Given the description of an element on the screen output the (x, y) to click on. 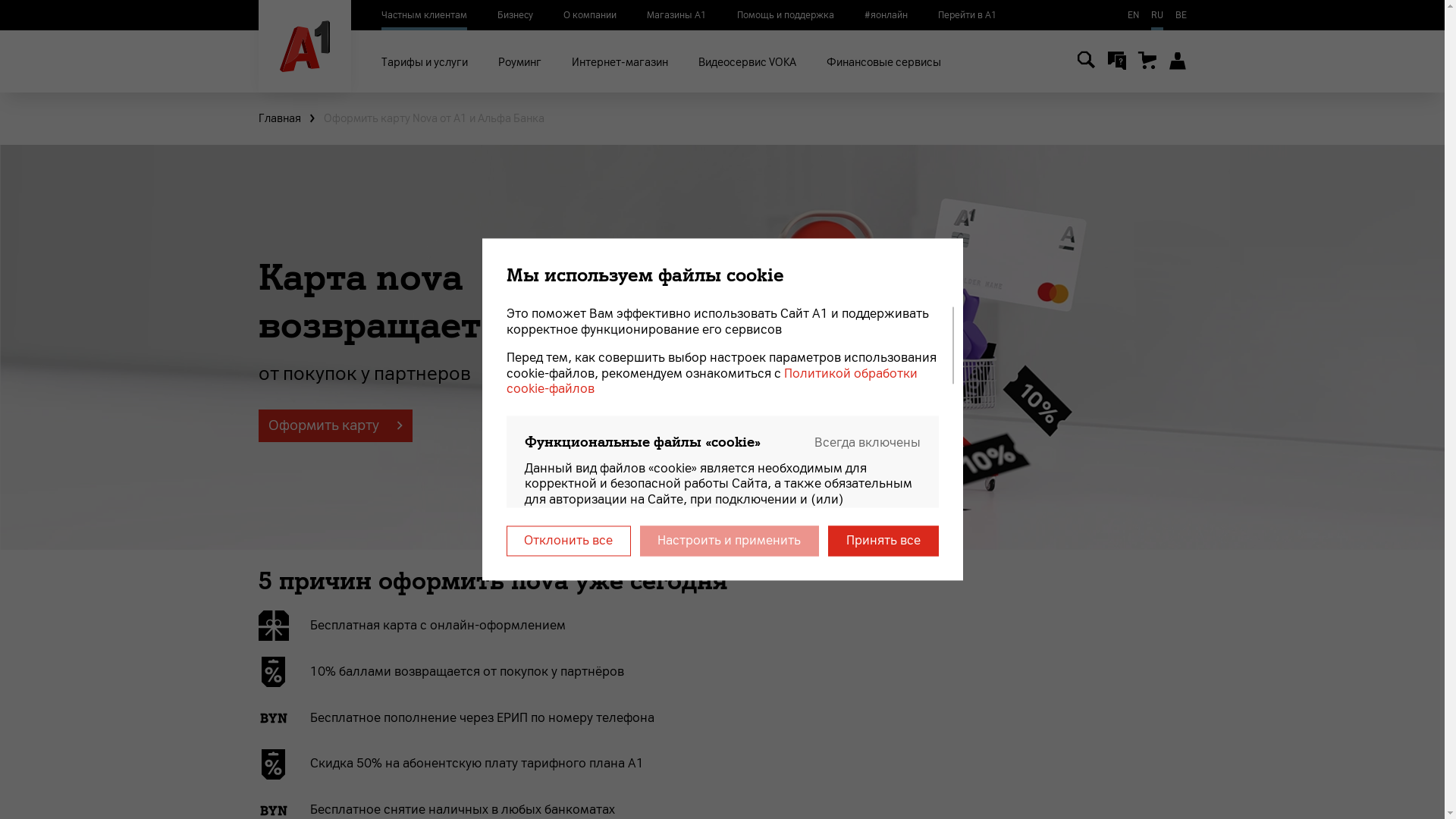
BE Element type: text (1180, 15)
EN Element type: text (1132, 15)
RU Element type: text (1157, 15)
